Given the description of an element on the screen output the (x, y) to click on. 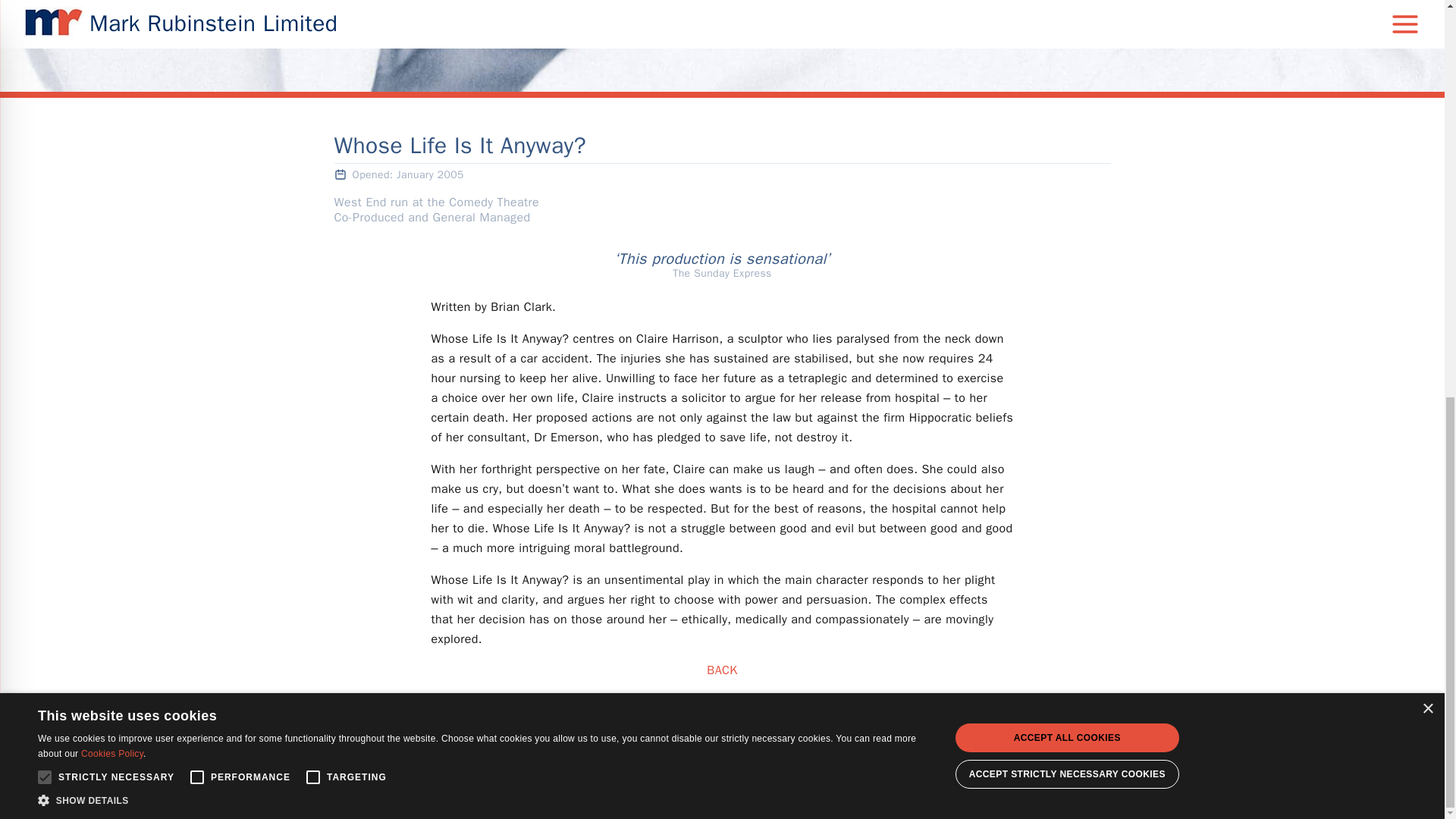
Site by 2smallfeet (828, 2)
Privacy Notice (702, 2)
BACK (721, 670)
Cookies (760, 2)
